Given the description of an element on the screen output the (x, y) to click on. 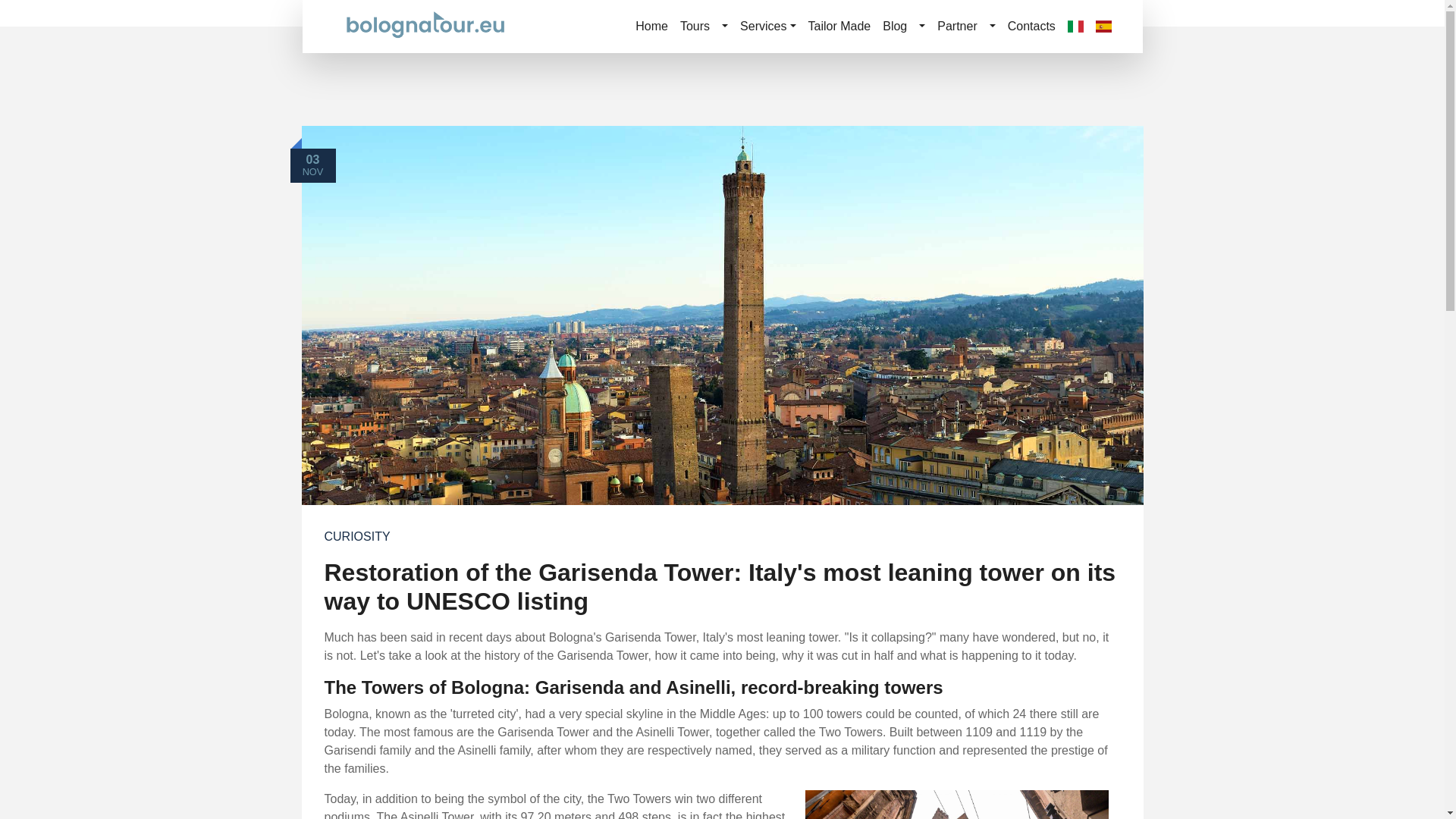
Home (651, 26)
Services (767, 26)
Contacts (1031, 26)
Blog (894, 26)
Tailor Made (839, 26)
Partner (956, 26)
CURIOSITY (357, 536)
Tours (695, 26)
